Given the description of an element on the screen output the (x, y) to click on. 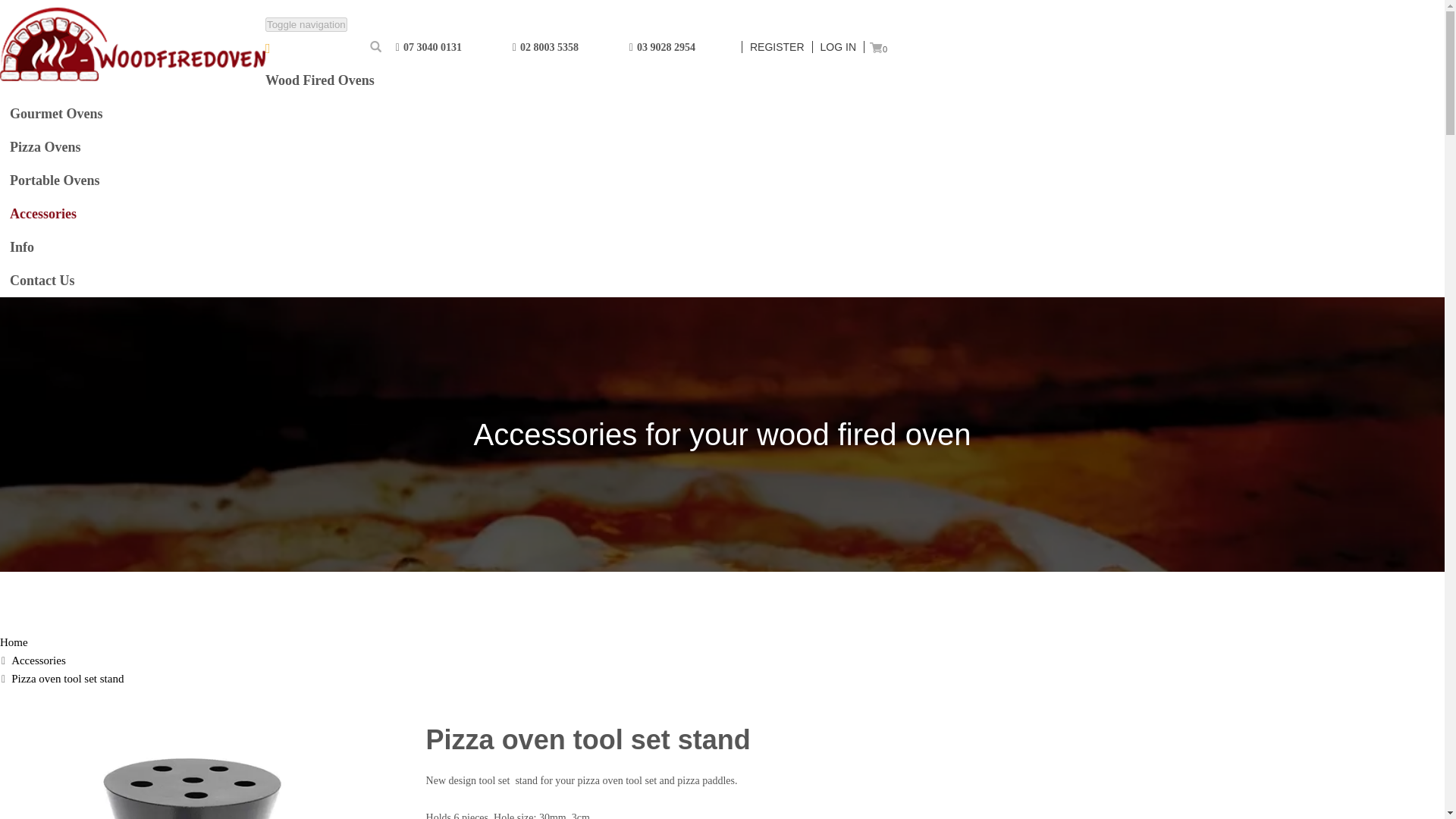
02 8003 5358 (563, 47)
tool-stand-for-pizza-oven-tools (213, 772)
Gourmet Ovens (442, 113)
REGISTER (776, 46)
03 9028 2954 (679, 47)
LOG IN (838, 46)
Wood Fired Ovens (442, 80)
Pizza Ovens (442, 147)
Portable Ovens (442, 180)
07 3040 0131 (446, 47)
0 (875, 46)
Toggle navigation (305, 24)
View your shopping cart (875, 46)
